Given the description of an element on the screen output the (x, y) to click on. 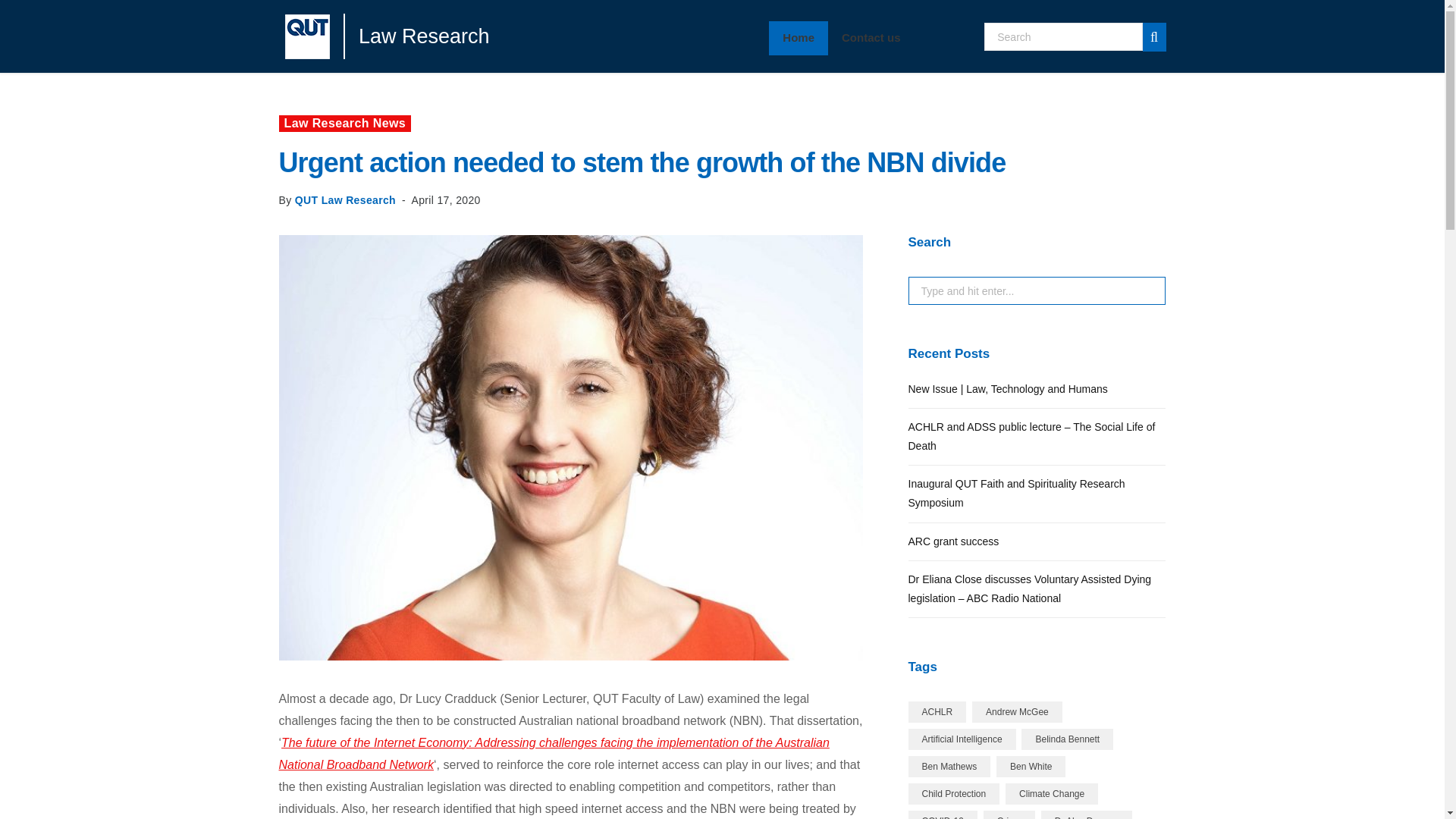
ACHLR (937, 711)
Law Research News (345, 123)
Andrew McGee (1017, 711)
Home (798, 38)
Inaugural QUT Faith and Spirituality Research Symposium (1016, 492)
ARC grant success (953, 541)
Contact us (871, 38)
QUT - the university for the real world (313, 35)
Law Research (417, 35)
Ben Mathews (949, 766)
QUT Law Research (345, 200)
Law Research (417, 35)
Artificial Intelligence (962, 739)
